Given the description of an element on the screen output the (x, y) to click on. 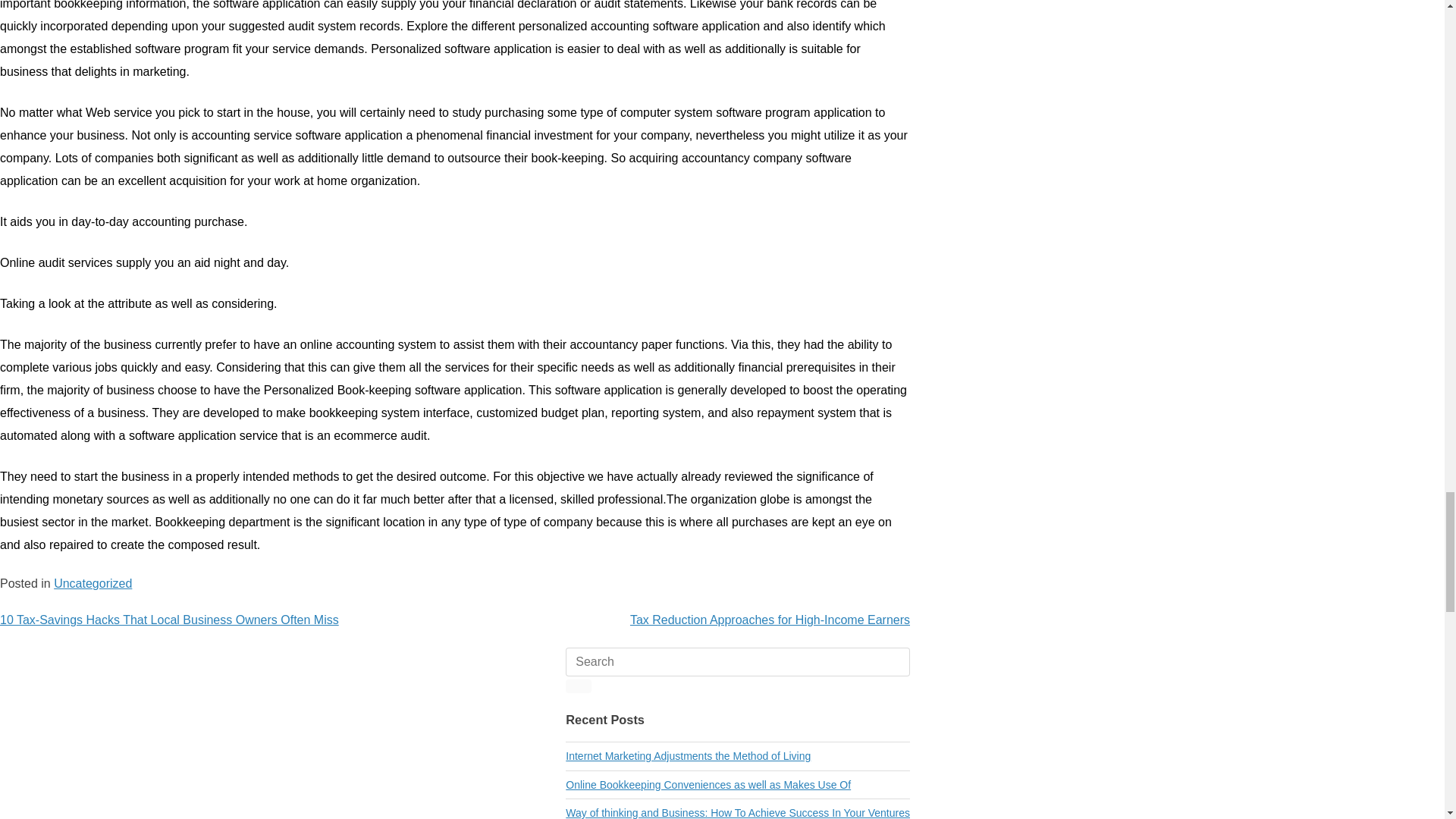
Uncategorized (92, 583)
Online Bookkeeping Conveniences as well as Makes Use Of (708, 784)
10 Tax-Savings Hacks That Local Business Owners Often Miss (169, 619)
Tax Reduction Approaches for High-Income Earners (770, 619)
Internet Marketing Adjustments the Method of Living (688, 756)
